Given the description of an element on the screen output the (x, y) to click on. 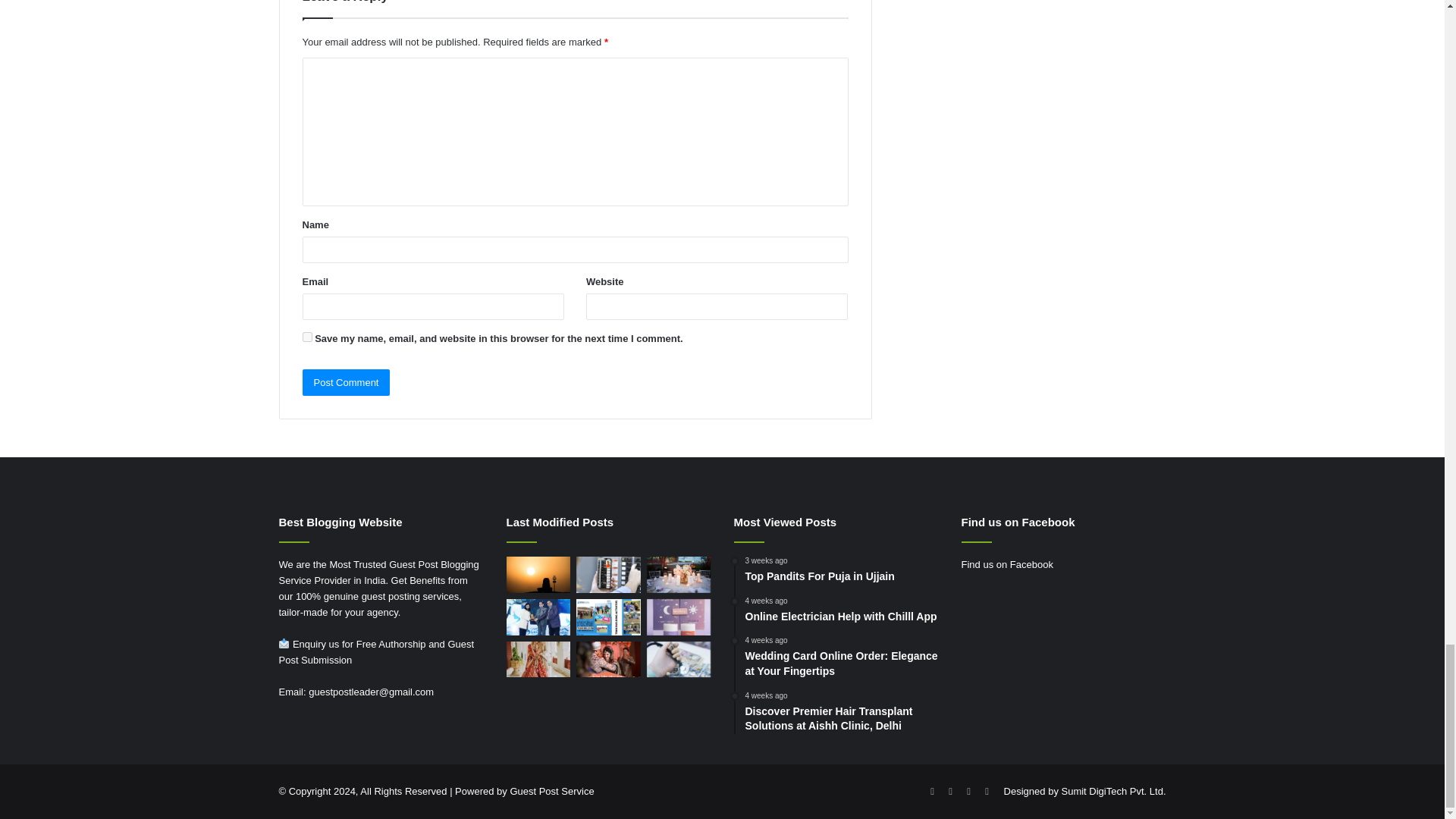
Post Comment (345, 382)
yes (306, 337)
